Given the description of an element on the screen output the (x, y) to click on. 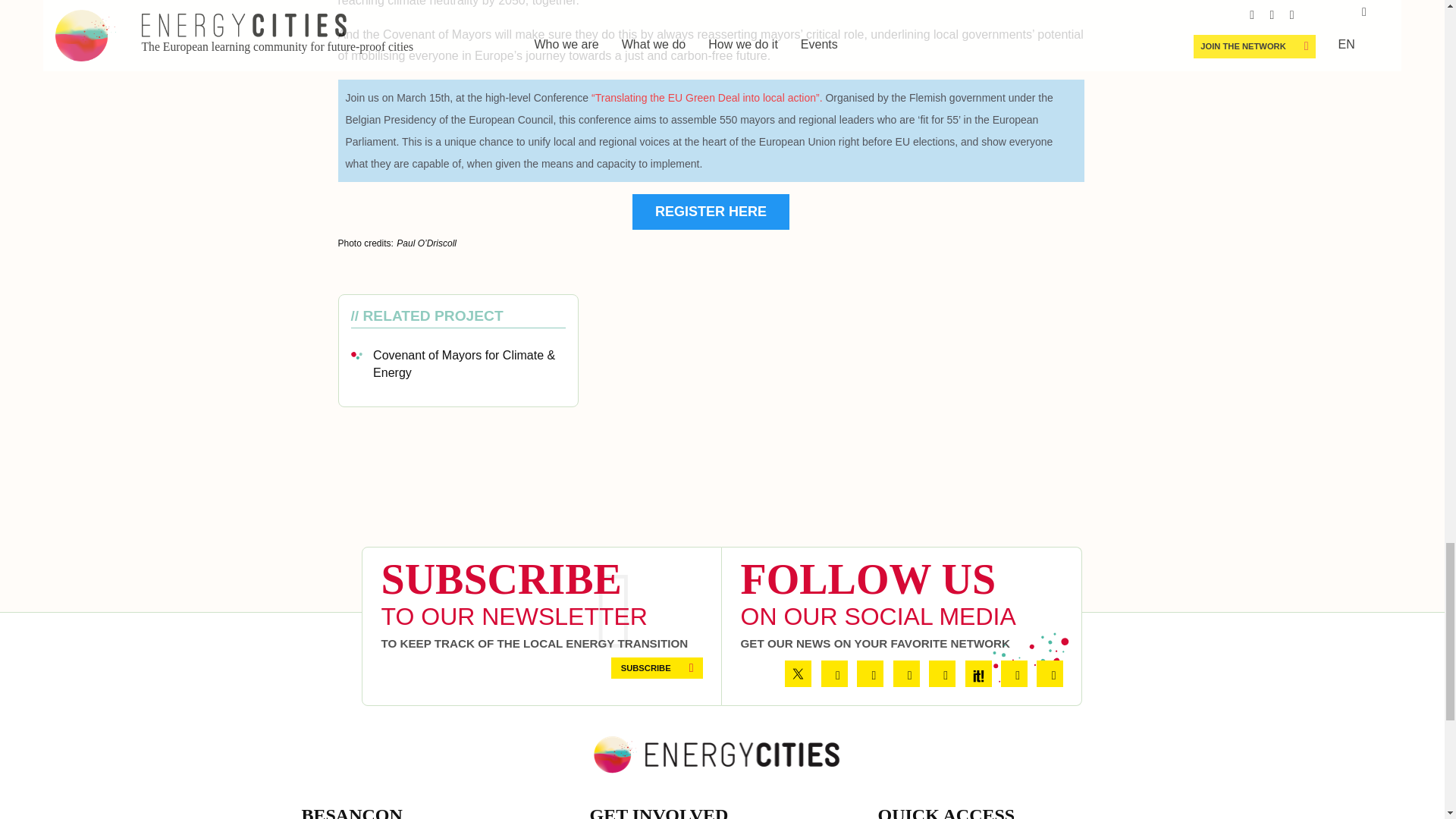
REGISTER HERE (710, 212)
